Given the description of an element on the screen output the (x, y) to click on. 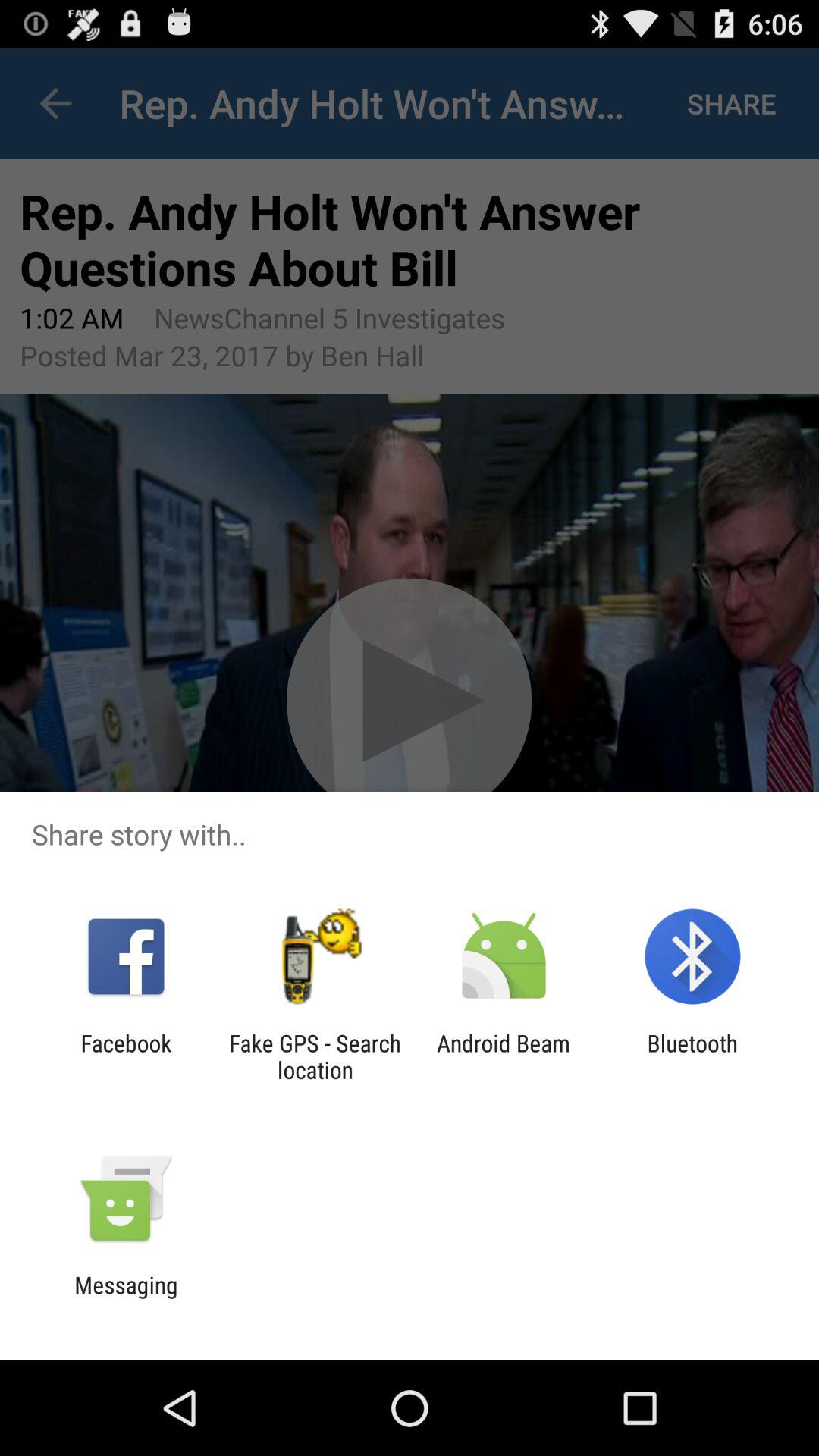
select the item to the left of the android beam (314, 1056)
